Given the description of an element on the screen output the (x, y) to click on. 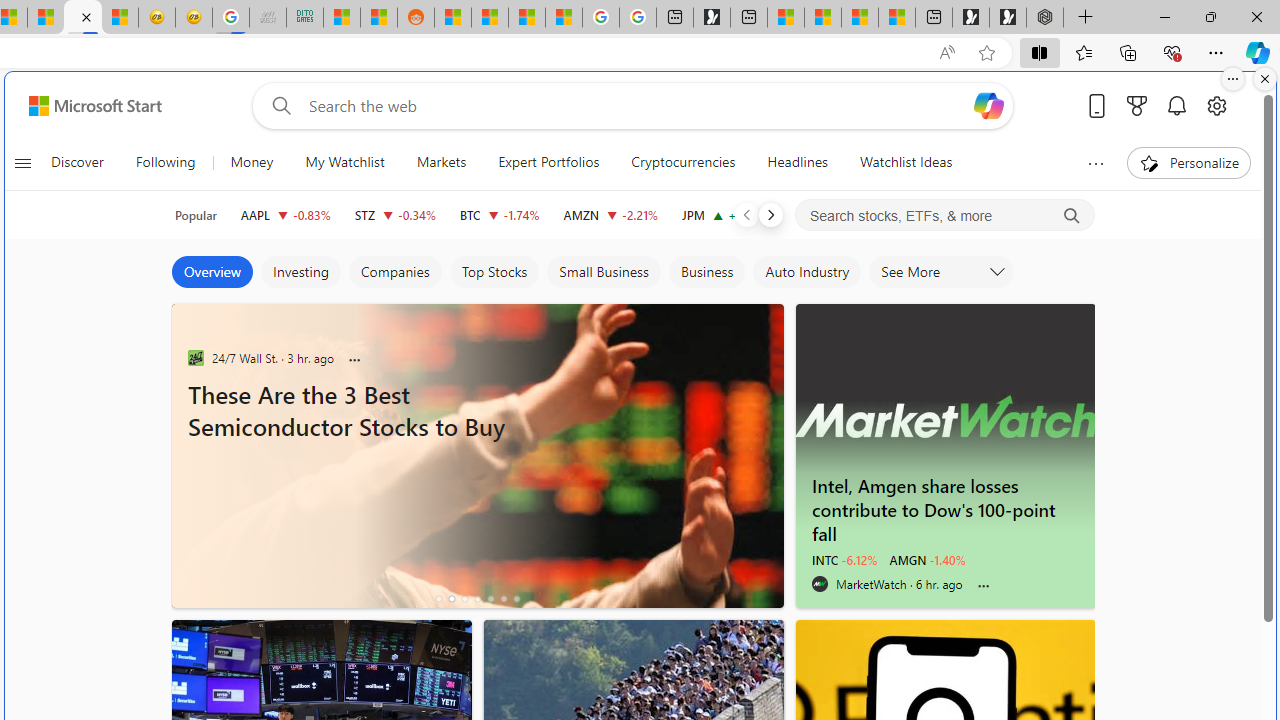
Skip to footer (82, 105)
Auto Industry (806, 272)
Nordace - Nordace Siena Is Not An Ordinary Backpack (1044, 17)
Popular (196, 215)
Business (707, 272)
AMZN AMAZON.COM, INC. decrease 176.13 -3.98 -2.21% (610, 214)
Headlines (797, 162)
